Given the description of an element on the screen output the (x, y) to click on. 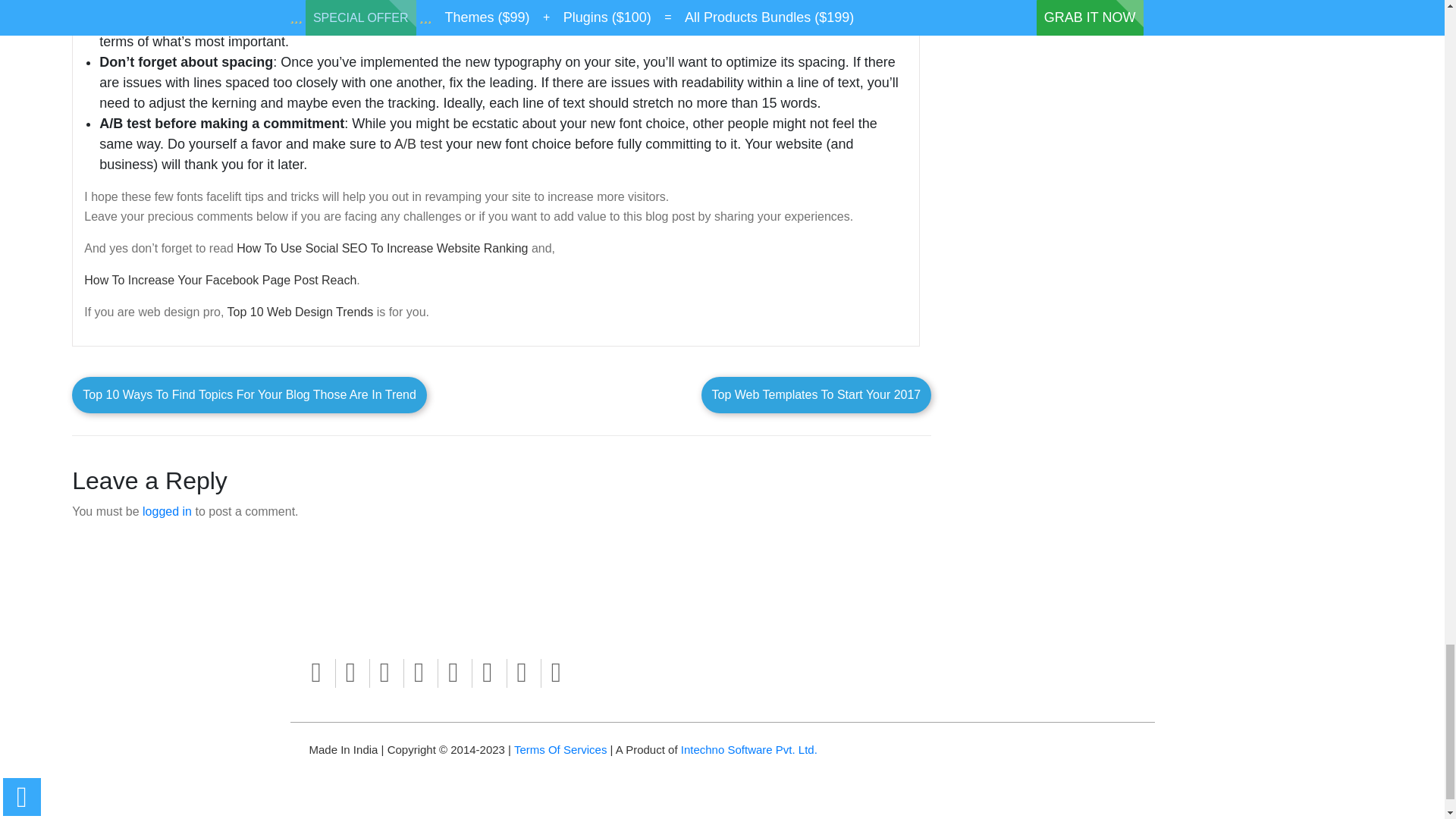
How To Use Social SEO To Increase Website Ranking (381, 247)
Top 10 Web Design Trends (300, 311)
How To Increase Your Facebook Page Post Reach (220, 279)
